Given the description of an element on the screen output the (x, y) to click on. 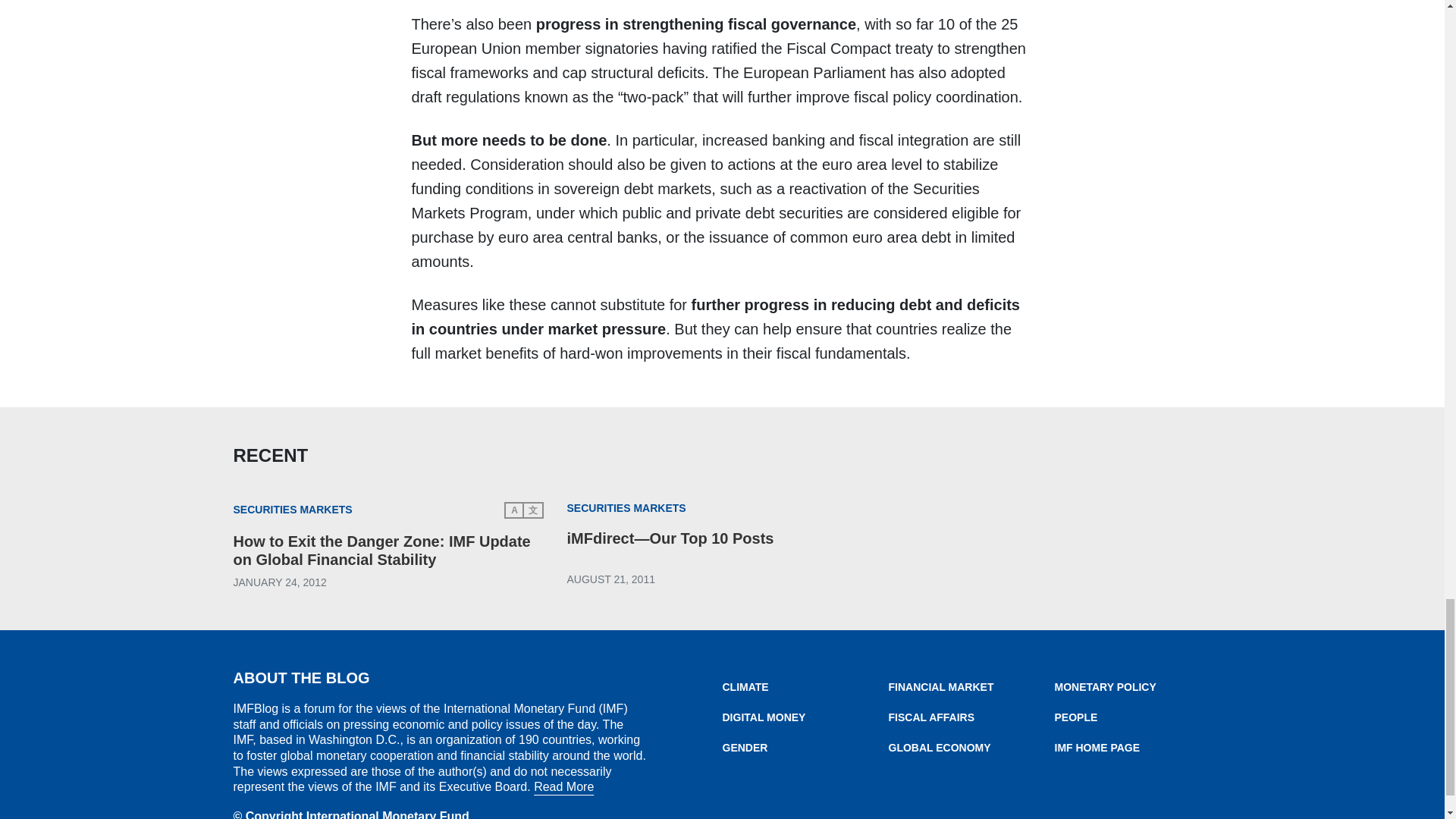
FINANCIAL MARKET (971, 686)
MONETARY POLICY (1137, 686)
IMF HOME PAGE (1137, 747)
PEOPLE (1137, 717)
GLOBAL ECONOMY (971, 747)
Read More (564, 786)
DIGITAL MONEY (805, 717)
SECURITIES MARKETS (292, 510)
FISCAL AFFAIRS (971, 717)
A (513, 510)
GENDER (805, 747)
SECURITIES MARKETS (625, 508)
CLIMATE (805, 686)
